Given the description of an element on the screen output the (x, y) to click on. 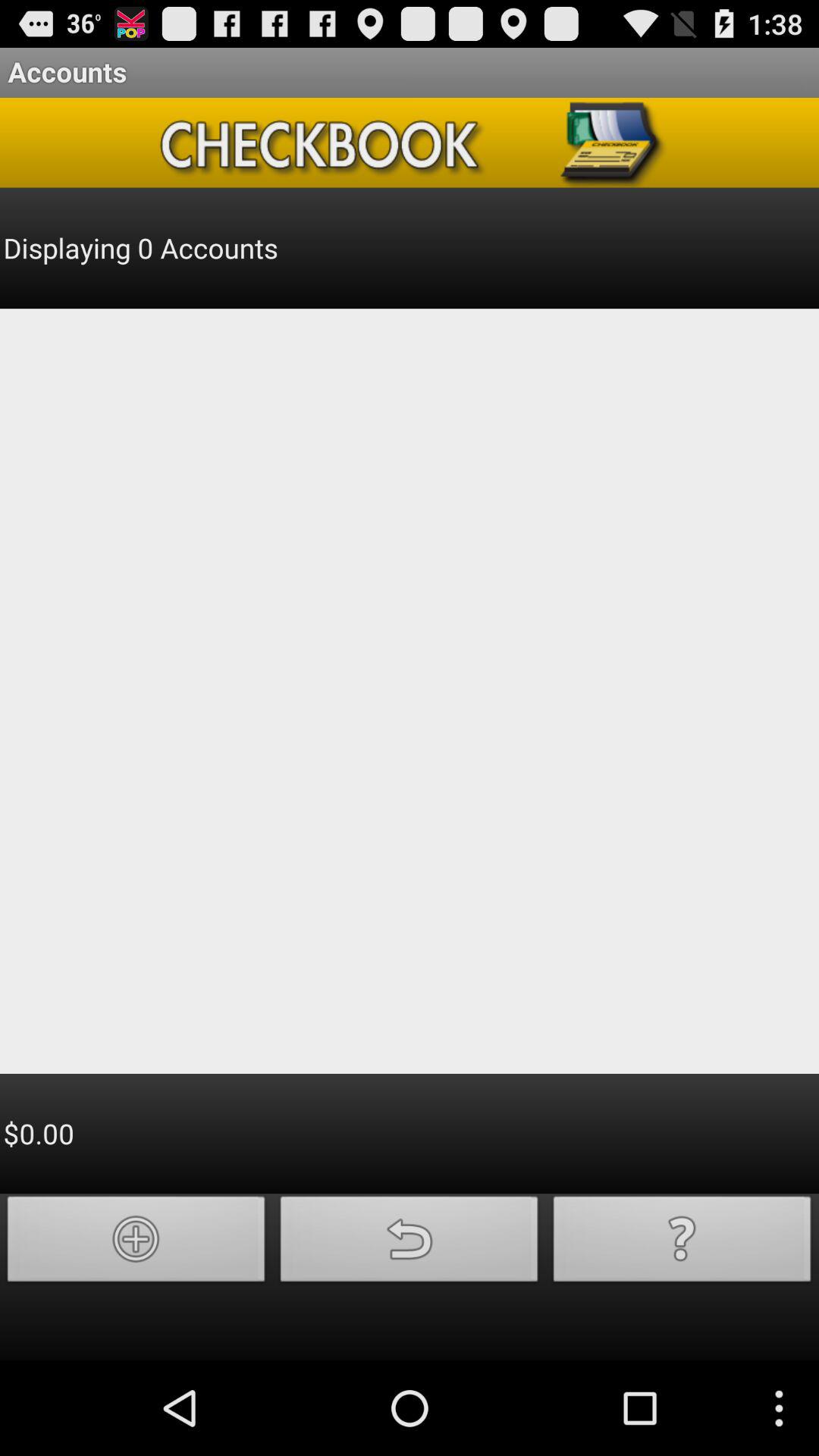
previous page (409, 1243)
